Given the description of an element on the screen output the (x, y) to click on. 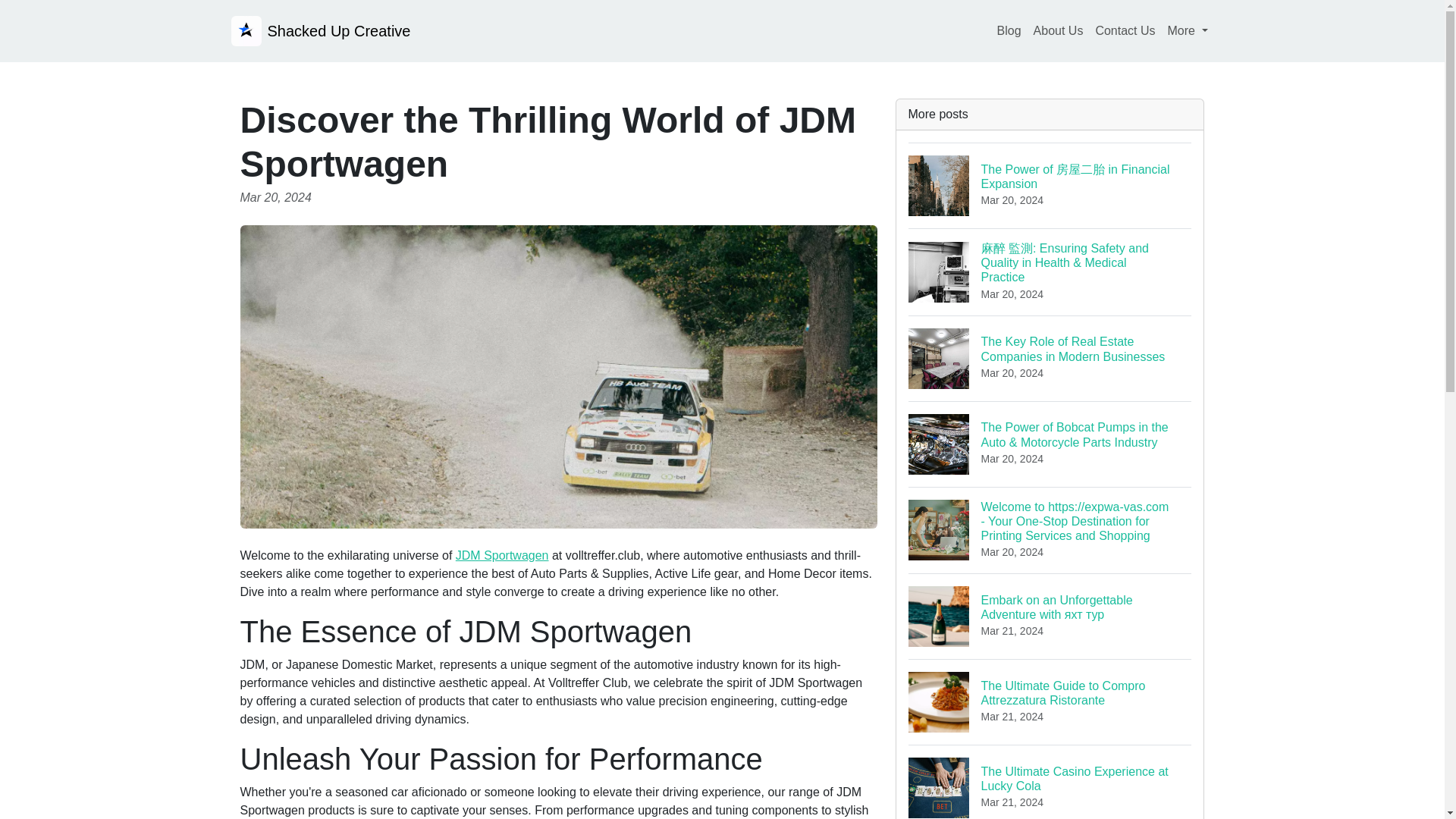
More (1187, 30)
About Us (1058, 30)
Shacked Up Creative (320, 30)
Contact Us (1124, 30)
Blog (1009, 30)
JDM Sportwagen (1050, 781)
